Given the description of an element on the screen output the (x, y) to click on. 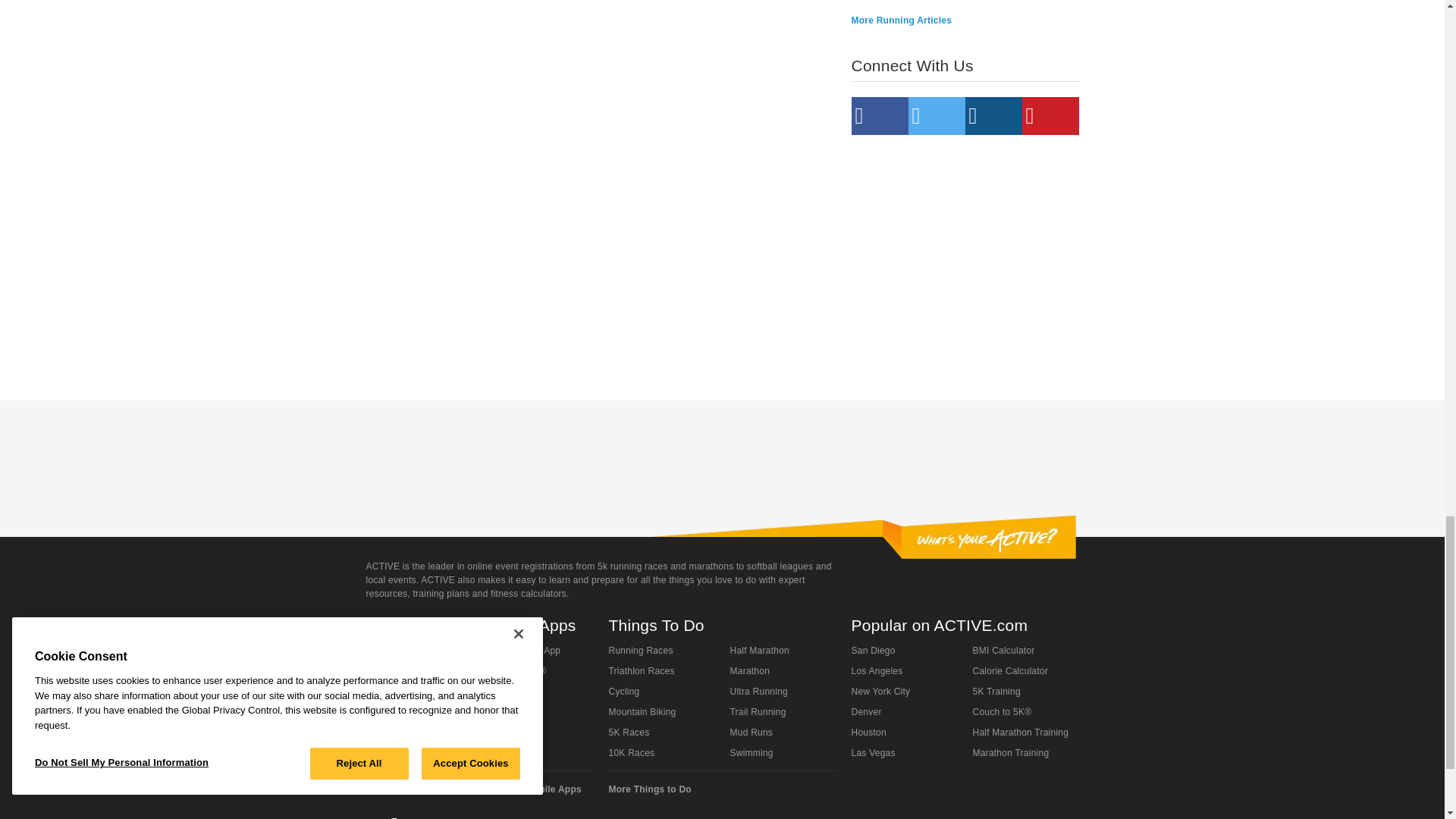
3rd party ad content (964, 259)
